Given the description of an element on the screen output the (x, y) to click on. 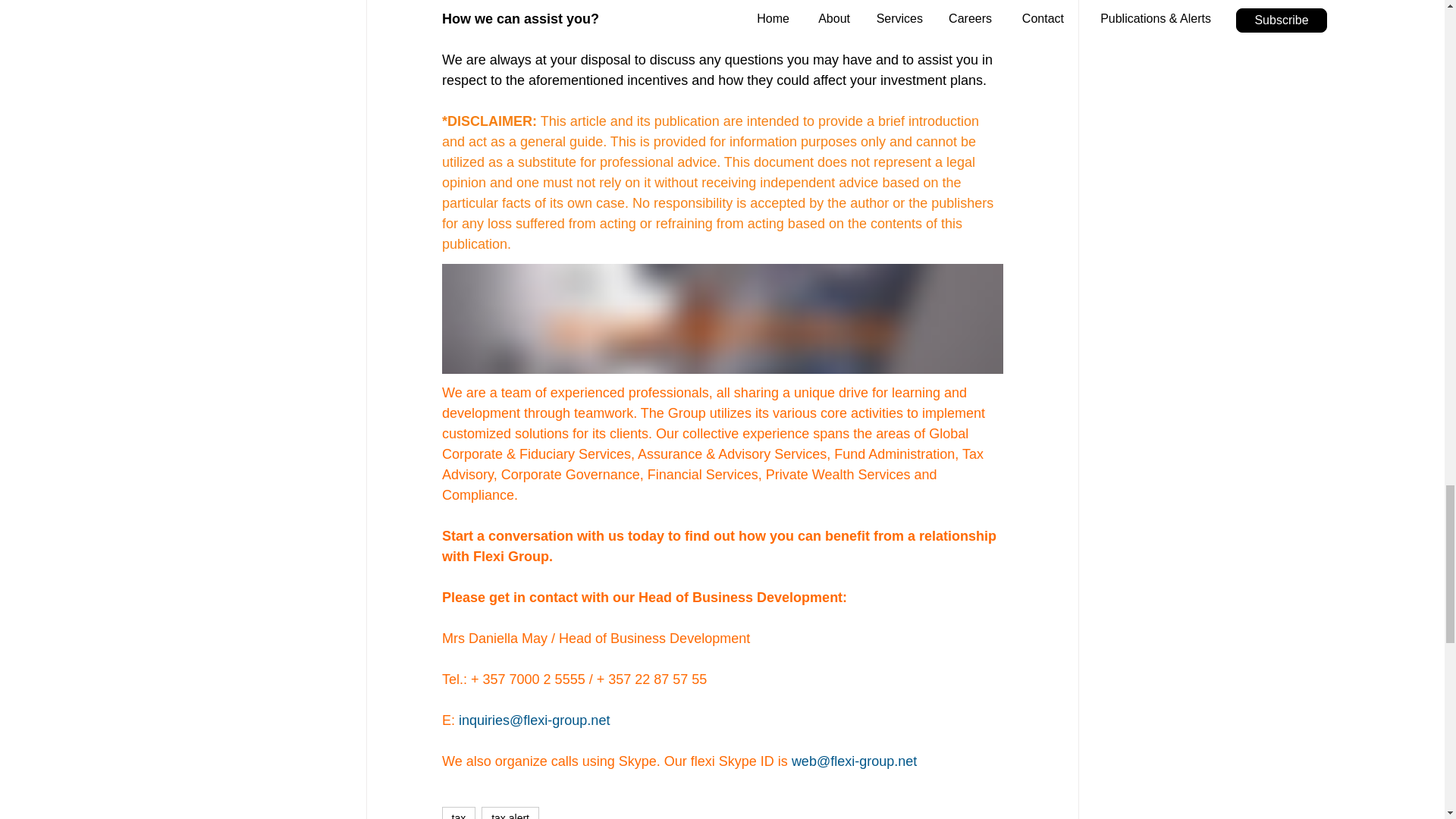
tax (458, 812)
tax alert (509, 812)
